Given the description of an element on the screen output the (x, y) to click on. 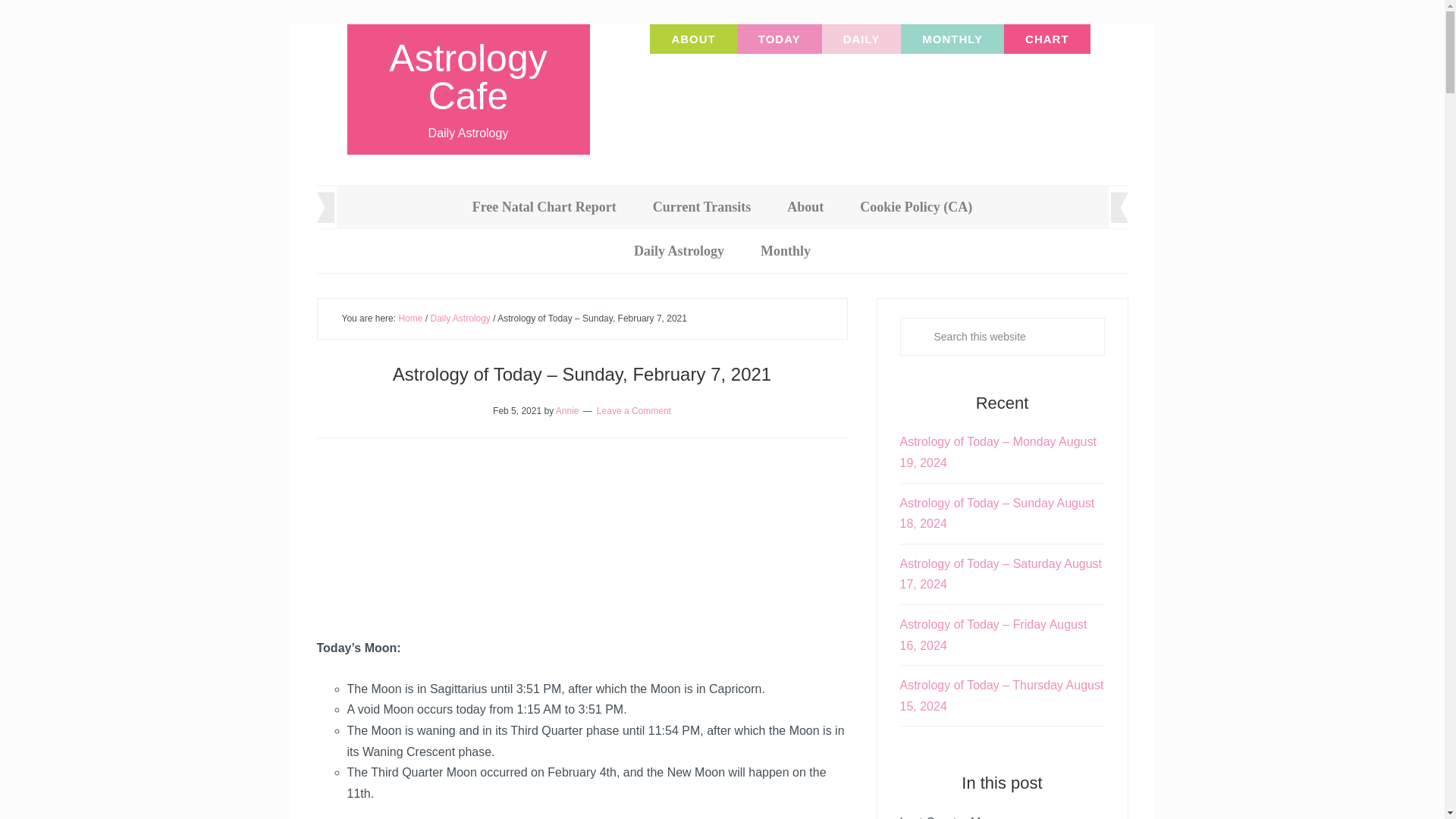
Leave a Comment (633, 410)
DAILY (861, 39)
ABOUT (692, 39)
Daily Astrology (460, 317)
Astrology Cafe (467, 76)
Home (409, 317)
MONTHLY (952, 39)
Daily Astrology (678, 250)
Monthly (785, 250)
Current Transits (702, 207)
